Given the description of an element on the screen output the (x, y) to click on. 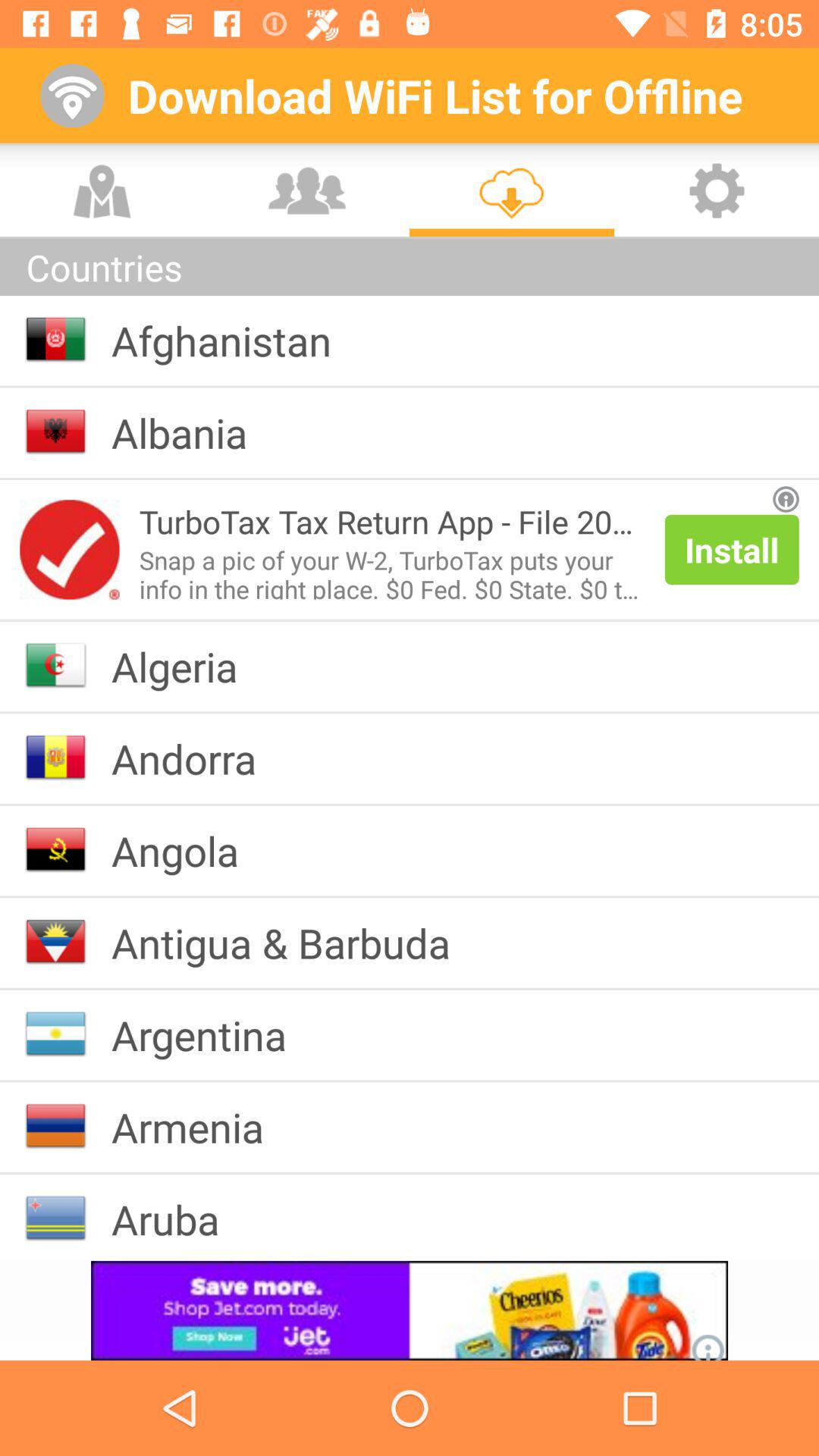
scroll until the antigua & barbuda (292, 942)
